Given the description of an element on the screen output the (x, y) to click on. 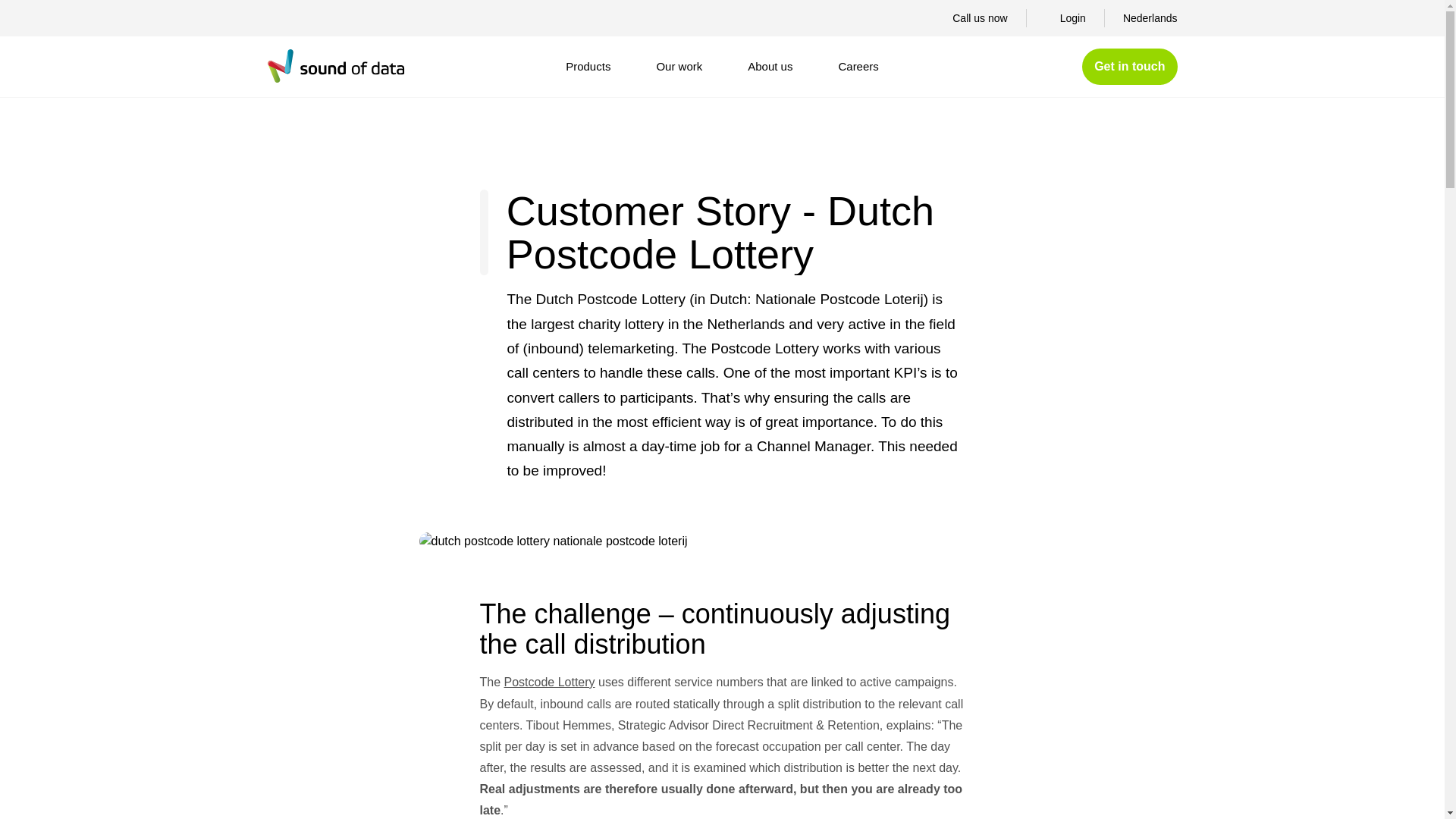
Get in touch (1128, 66)
Login (1064, 18)
Nederlands (1149, 18)
Call us now (971, 18)
Careers (857, 67)
